Given the description of an element on the screen output the (x, y) to click on. 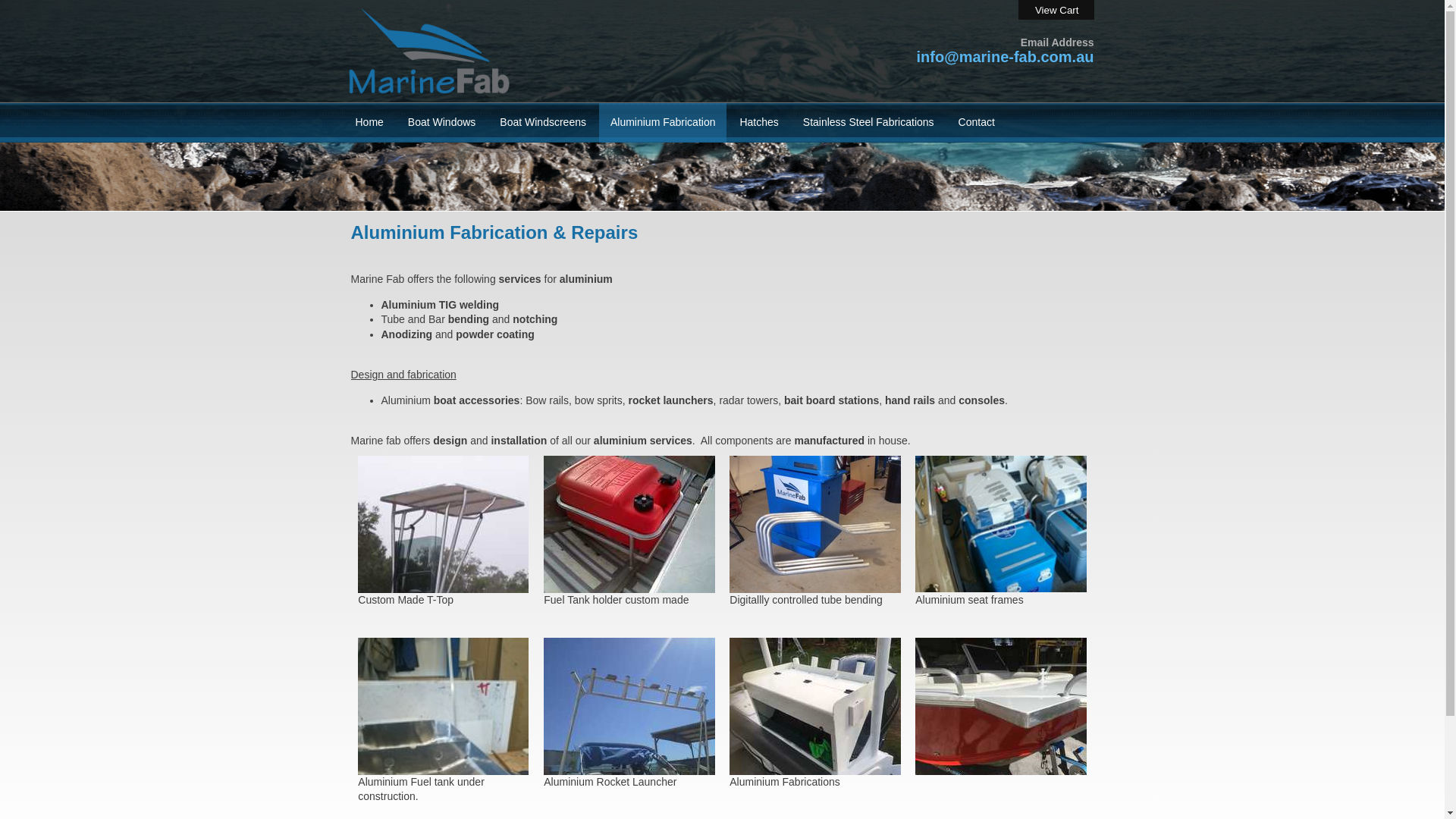
Home Element type: text (369, 122)
info@marine-fab.com.au Element type: text (1005, 56)
Boat Windows Element type: text (441, 122)
View Cart Element type: text (1055, 9)
Aluminium Fabrication Element type: text (663, 122)
Contact Element type: text (976, 122)
Stainless Steel Fabrications Element type: text (868, 122)
Boat Windscreens Element type: text (542, 122)
Hatches Element type: text (758, 122)
